Given the description of an element on the screen output the (x, y) to click on. 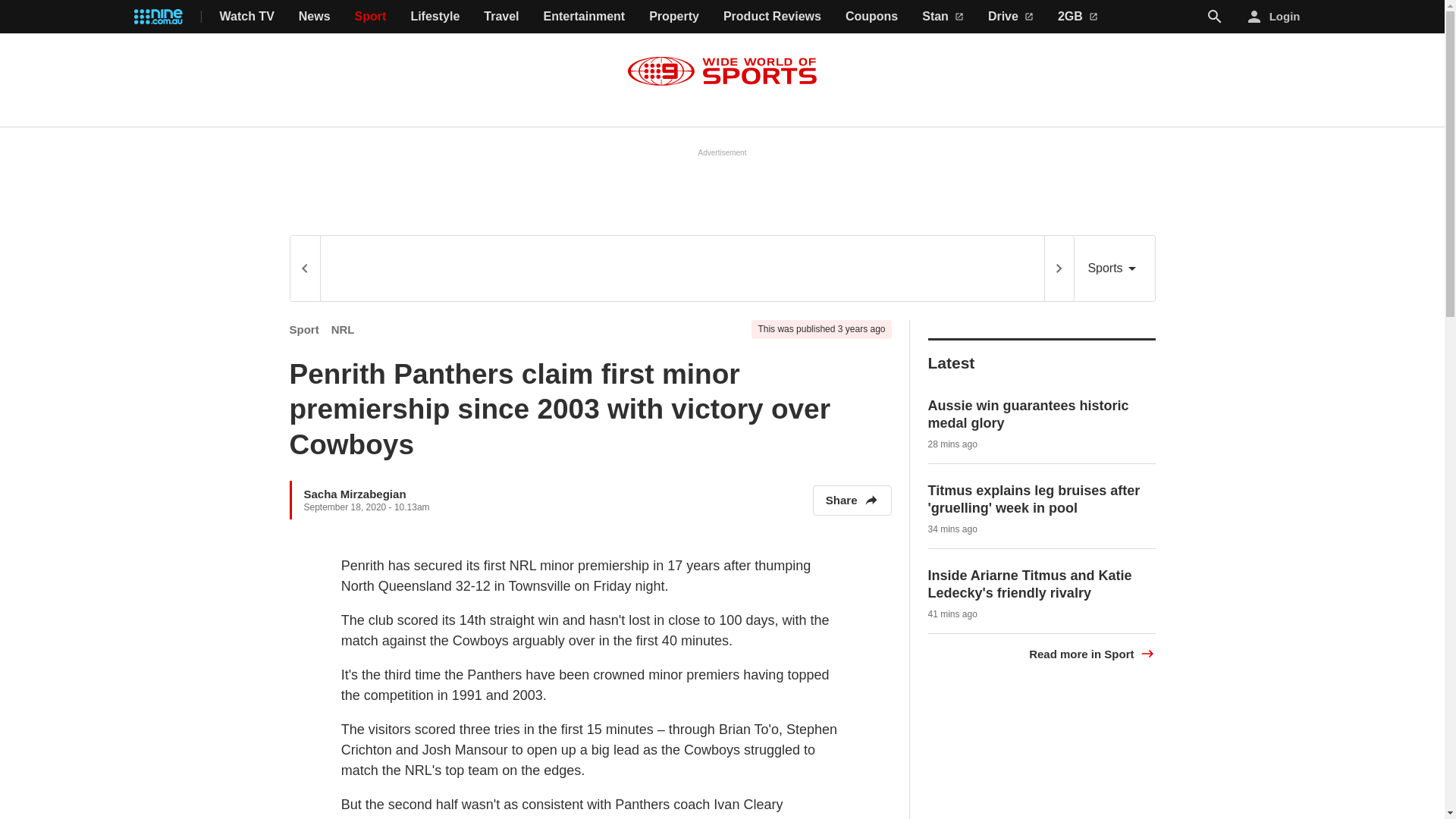
Stan (942, 16)
Login (1273, 16)
Share (851, 500)
Watch TV (247, 16)
2GB (1077, 16)
News (314, 16)
Titmus explains leg bruises after 'gruelling' week in pool (1034, 499)
Aussie win guarantees historic medal glory (1028, 414)
Sports (1114, 268)
Inside Ariarne Titmus and Katie Ledecky's friendly rivalry (1030, 584)
